Given the description of an element on the screen output the (x, y) to click on. 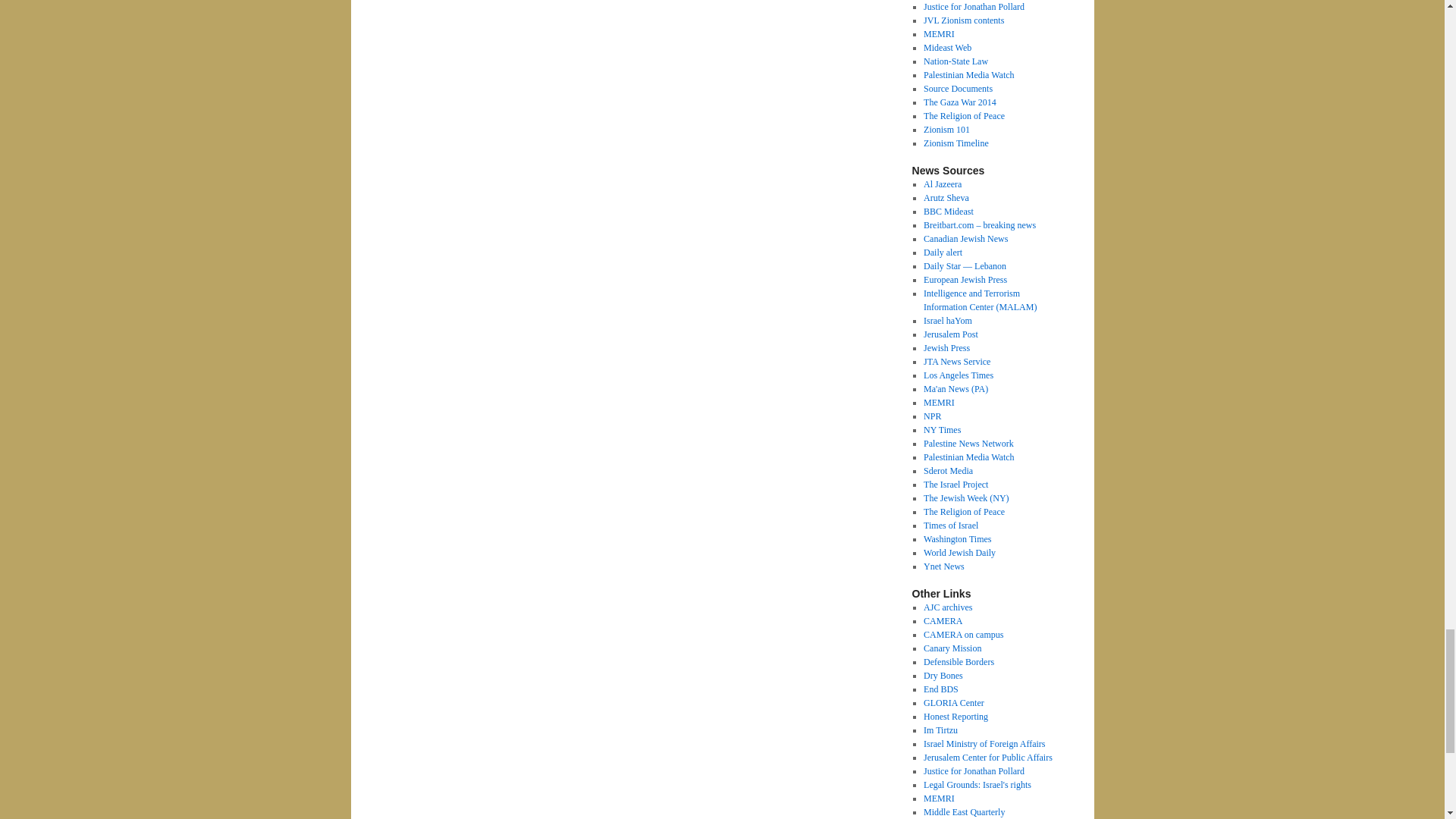
Basic Law: Israel as the Nation-State of the Jewish People (955, 61)
